Given the description of an element on the screen output the (x, y) to click on. 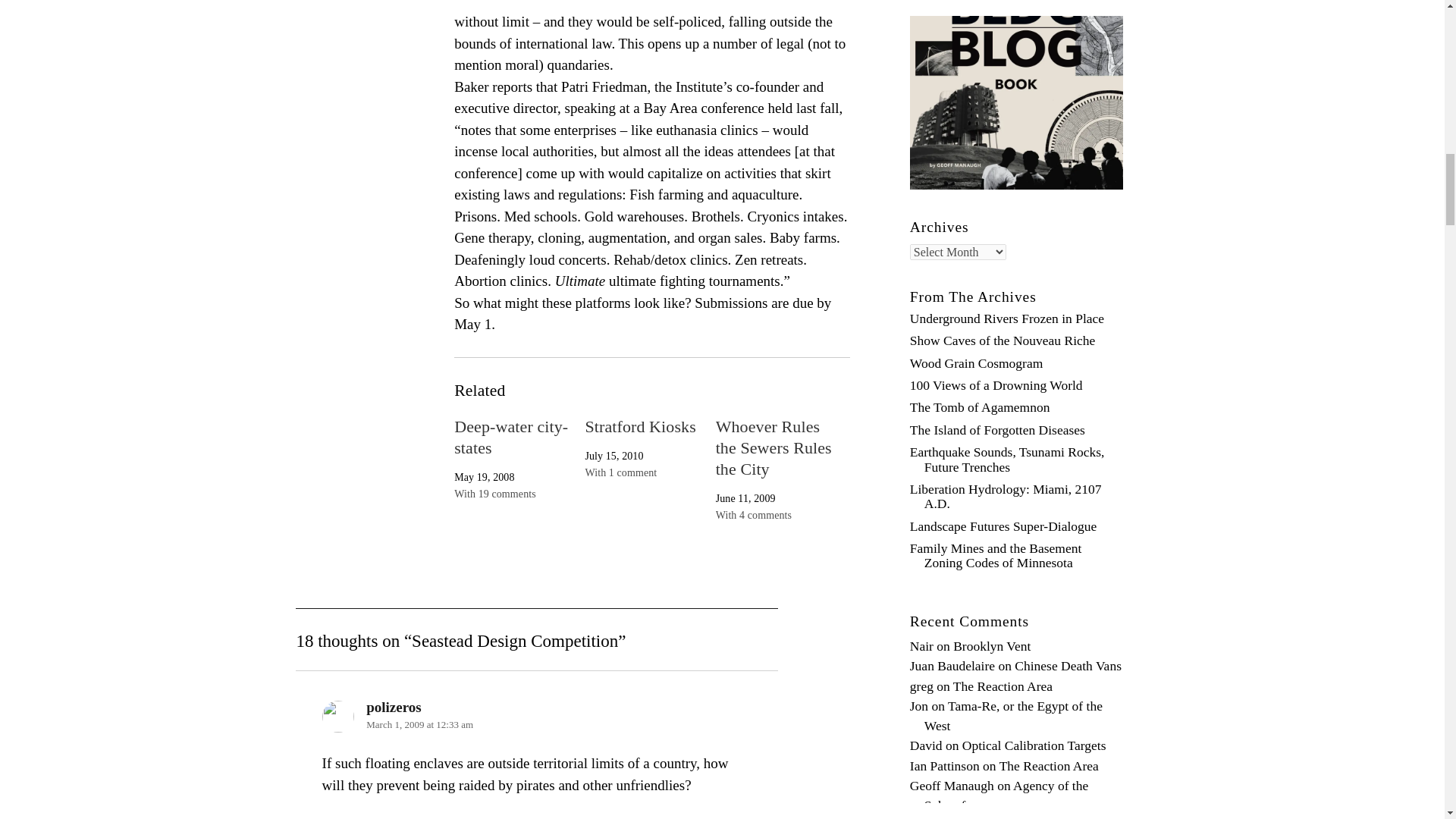
Whoever Rules the Sewers Rules the City (773, 447)
Deep-water city-states (510, 436)
Stratford Kiosks (640, 425)
Deep-water city-states (510, 436)
Stratford Kiosks (640, 425)
March 1, 2009 at 12:33 am (419, 724)
From The Archives (973, 296)
Whoever Rules the Sewers Rules the City (773, 447)
